Given the description of an element on the screen output the (x, y) to click on. 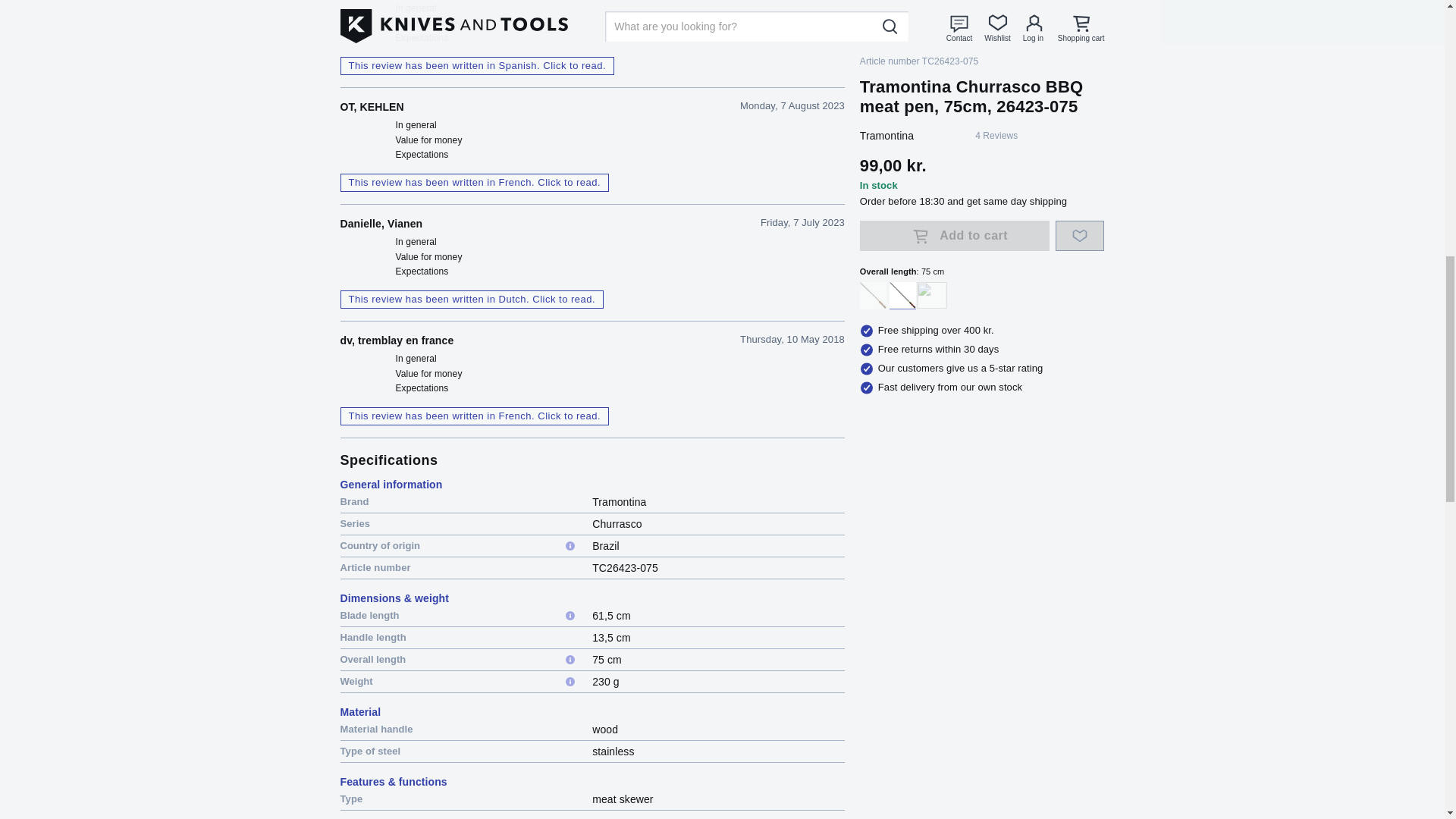
This review has been written in Spanish. Click to read. (476, 65)
This review has been written in Dutch. Click to read. (471, 299)
This review has been written in French. Click to read. (473, 182)
This review has been written in French. Click to read. (473, 416)
